Given the description of an element on the screen output the (x, y) to click on. 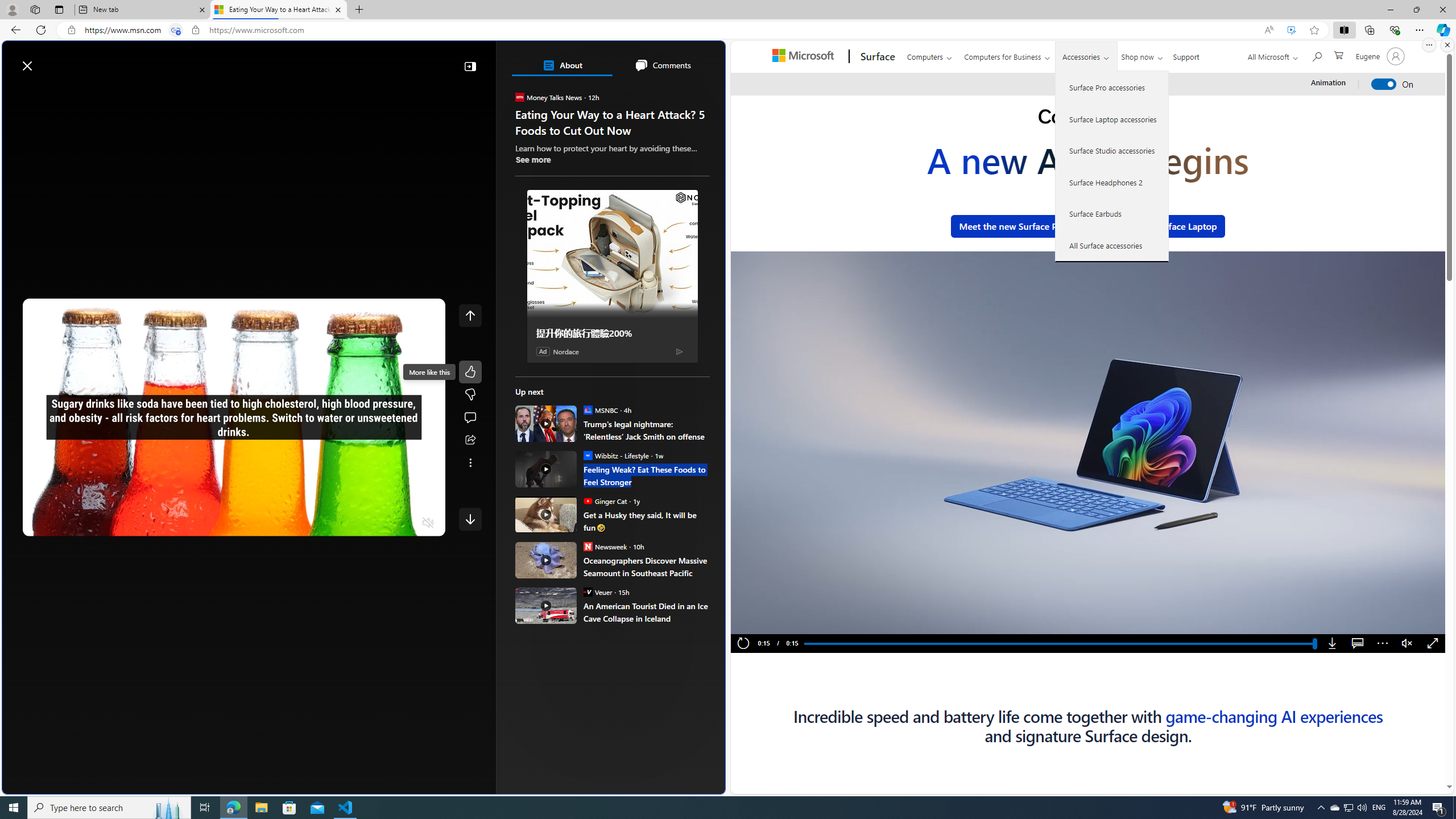
Download (1332, 643)
Class: control icon-only (469, 315)
Quality Settings (360, 523)
More options. (1428, 45)
Microsoft (804, 56)
Veuer Veuer (597, 591)
Search Microsoft.com (1316, 54)
